Given the description of an element on the screen output the (x, y) to click on. 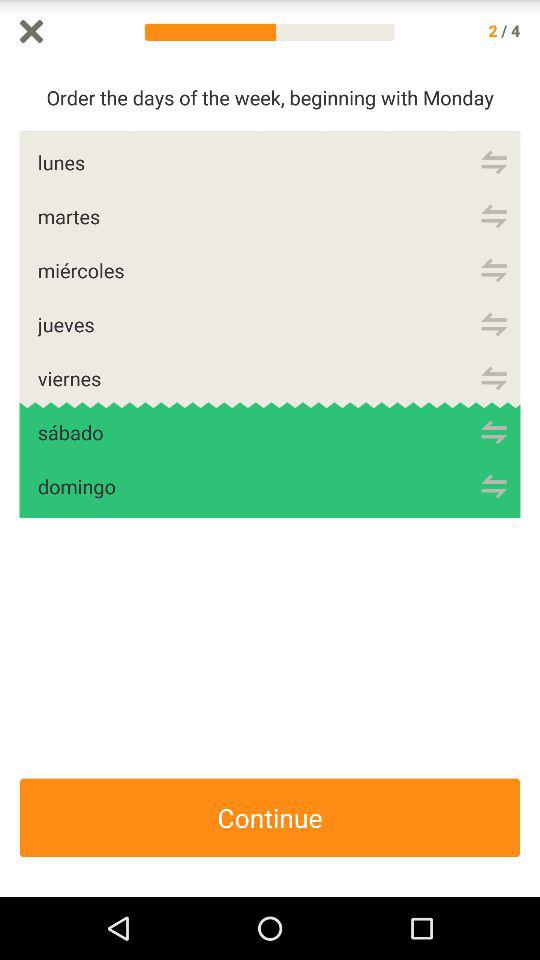
scroll through window (530, 480)
